Given the description of an element on the screen output the (x, y) to click on. 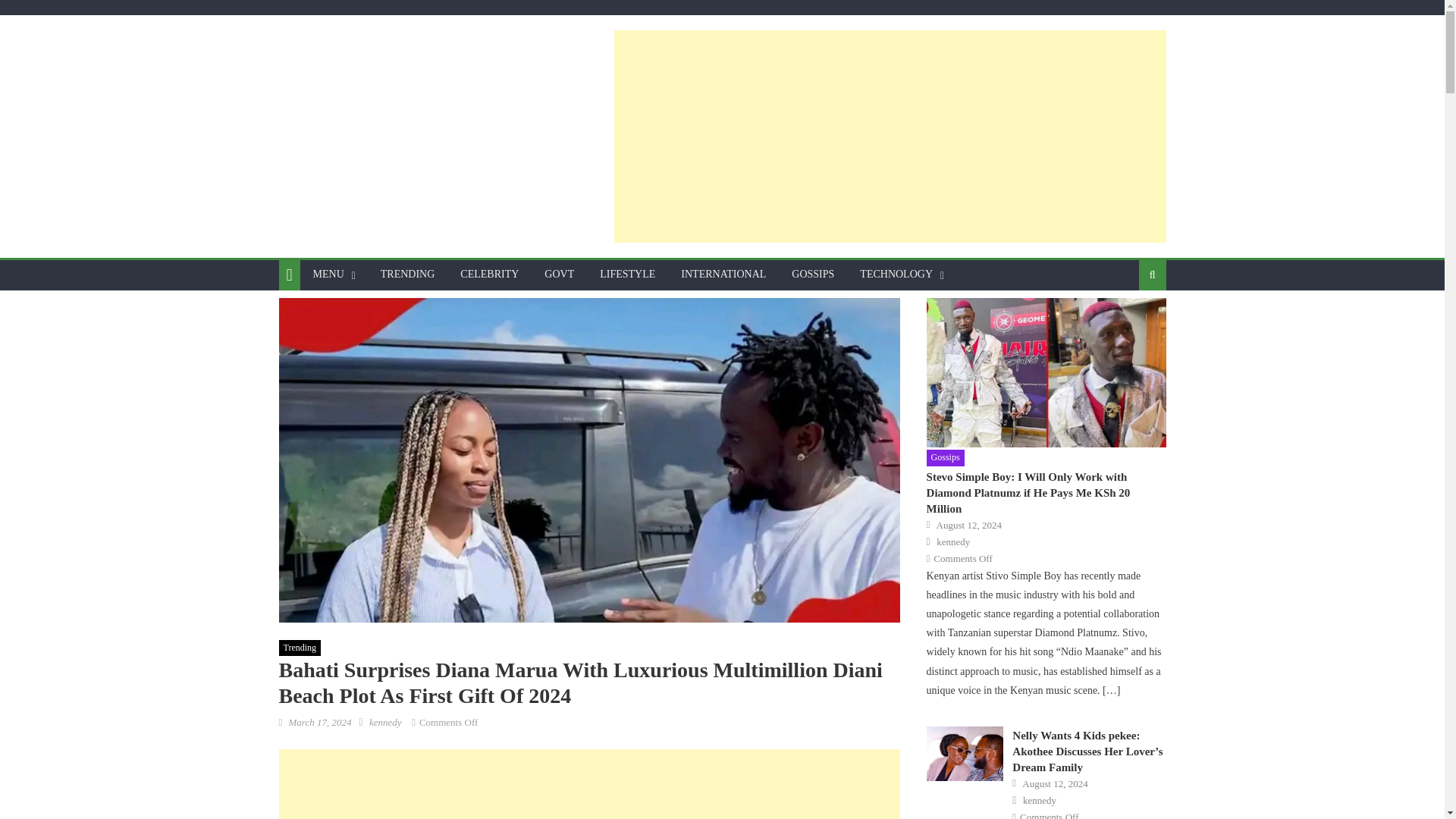
GOVT (558, 274)
INTERNATIONAL (723, 274)
Search (1128, 324)
MENU (328, 274)
LIFESTYLE (627, 274)
kennedy (385, 722)
CELEBRITY (488, 274)
GOSSIPS (812, 274)
Trending (300, 647)
